Given the description of an element on the screen output the (x, y) to click on. 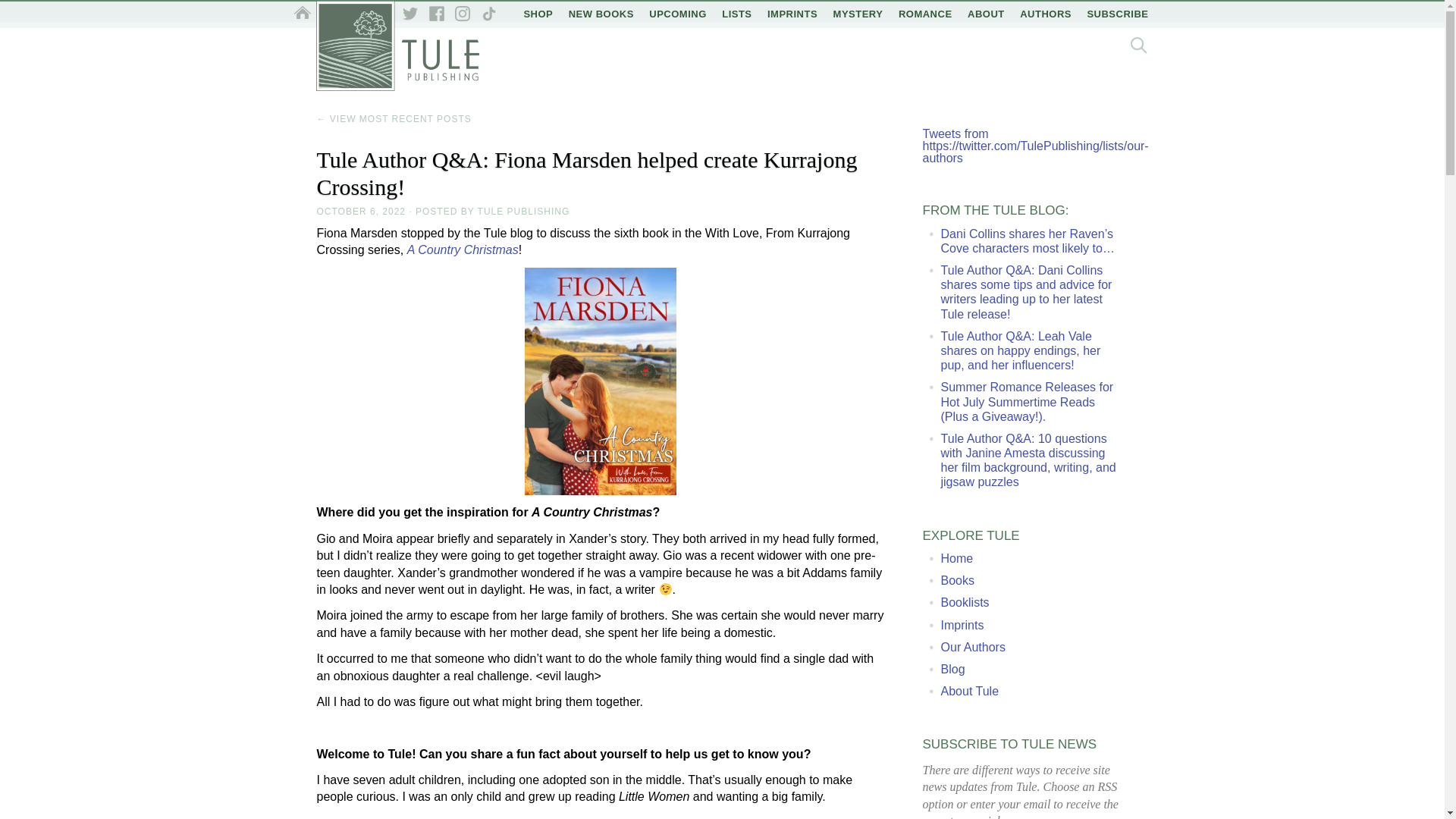
AUTHORS (1045, 13)
UPCOMING (678, 13)
NEW BOOKS (601, 13)
SHOP (537, 13)
IMPRINTS (792, 13)
Twitter (410, 13)
MYSTERY (858, 13)
ROMANCE (925, 13)
Instagram (462, 13)
ABOUT (985, 13)
TULE PUBLISHING (523, 211)
A Country Christmas (462, 249)
TikTok (488, 13)
SUBSCRIBE (1117, 13)
LISTS (736, 13)
